Given the description of an element on the screen output the (x, y) to click on. 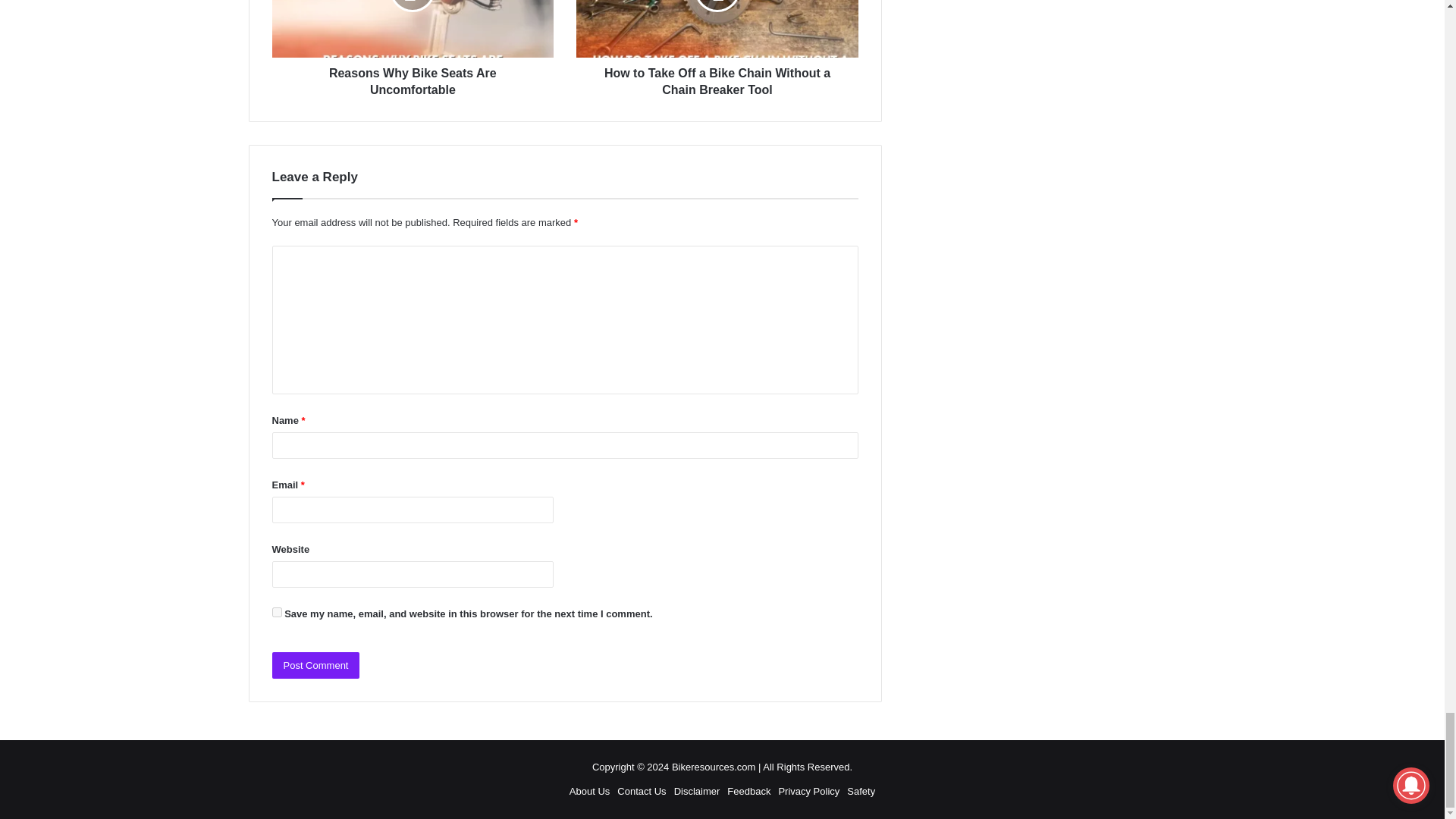
yes (275, 612)
Post Comment (314, 664)
